Given the description of an element on the screen output the (x, y) to click on. 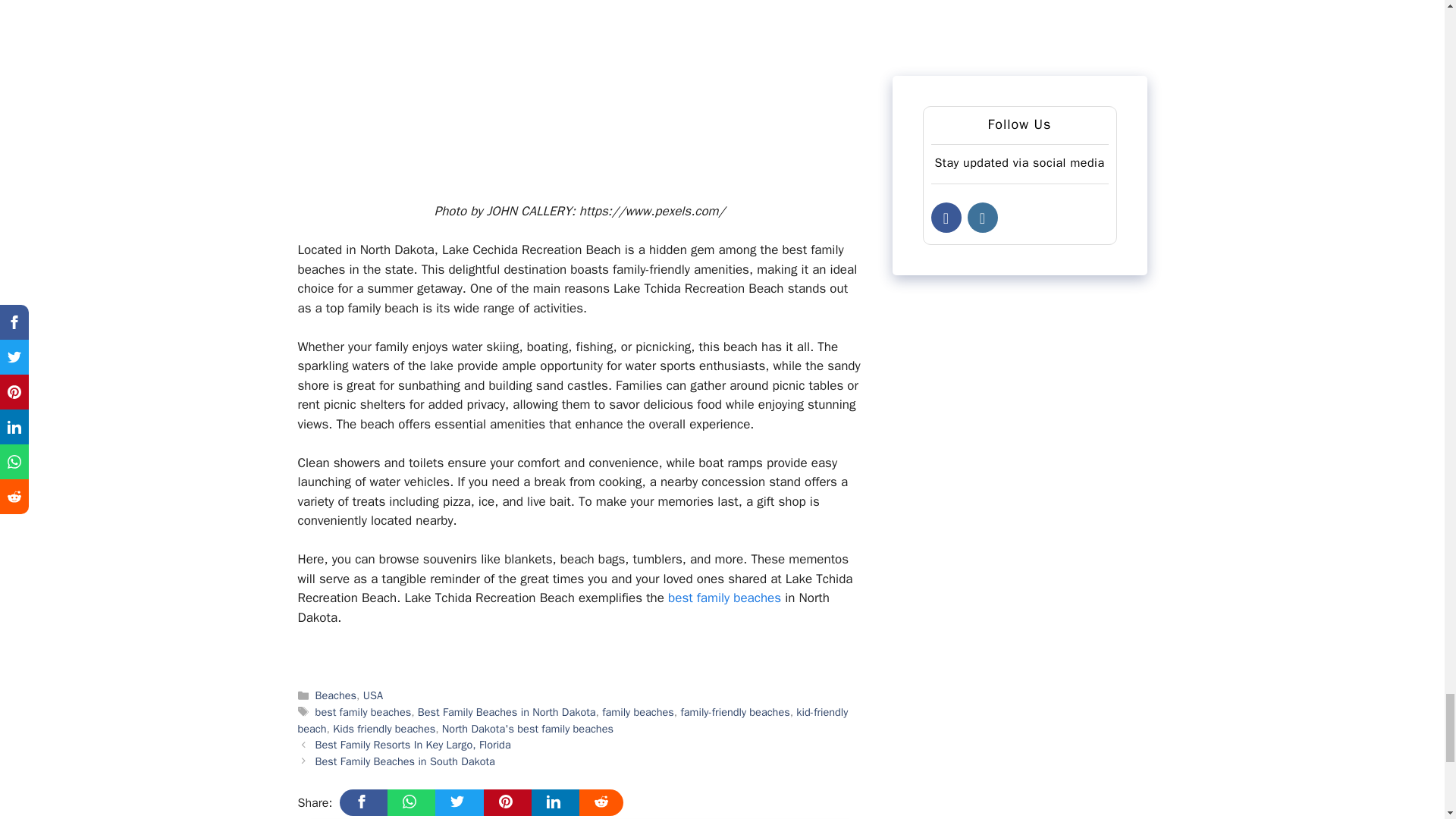
Best Family Beaches in North Dakota 11 (579, 88)
